Given the description of an element on the screen output the (x, y) to click on. 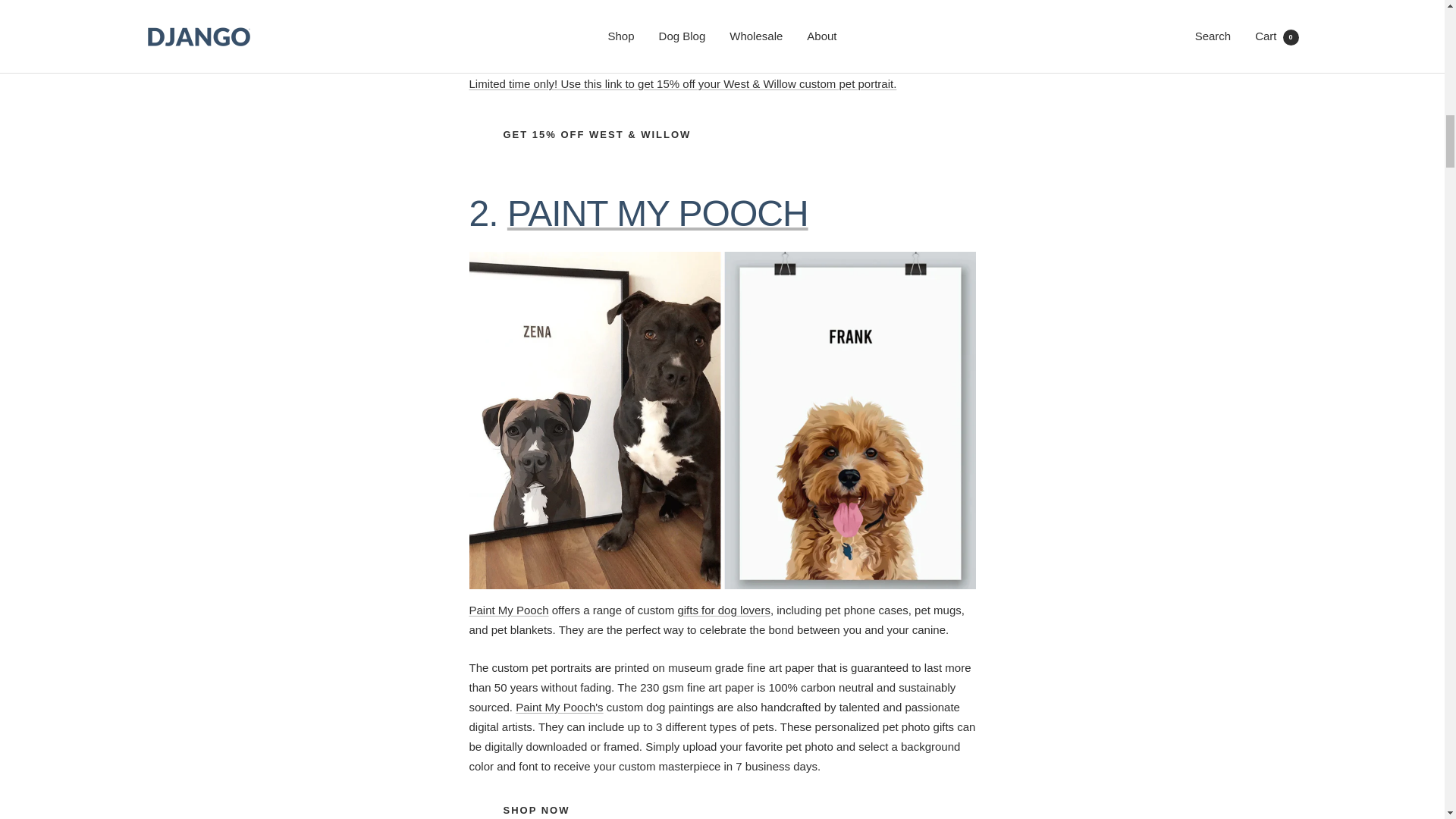
Best Friends Animal Society (834, 25)
best custom pet portrait (721, 260)
THE BEST GIFTS FOR DOGS AND DOG LOVERS (723, 609)
